Given the description of an element on the screen output the (x, y) to click on. 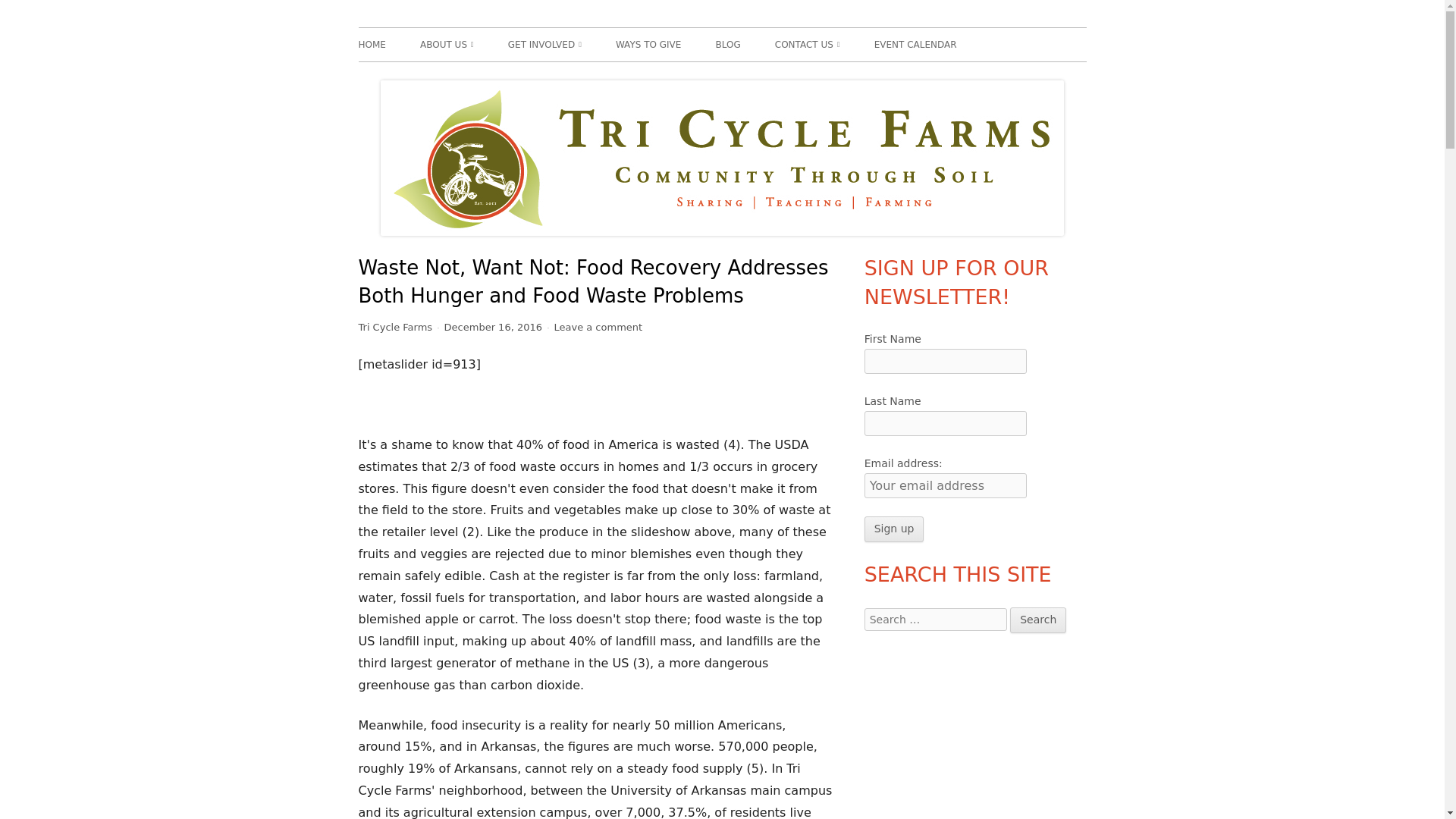
GENERAL INQUIRIES (861, 76)
ABOUT US (447, 44)
VOLUNTEER (594, 76)
CONTACT US (807, 44)
Tri Cycle Farms (431, 27)
Search (1037, 620)
WAYS TO GIVE (648, 44)
WHO WE ARE (507, 76)
EVENT CALENDAR (915, 44)
Sign up (894, 529)
Tri Cycle Farms (395, 326)
Search (1037, 620)
GET INVOLVED (544, 44)
December 16, 2016 (492, 326)
